Given the description of an element on the screen output the (x, y) to click on. 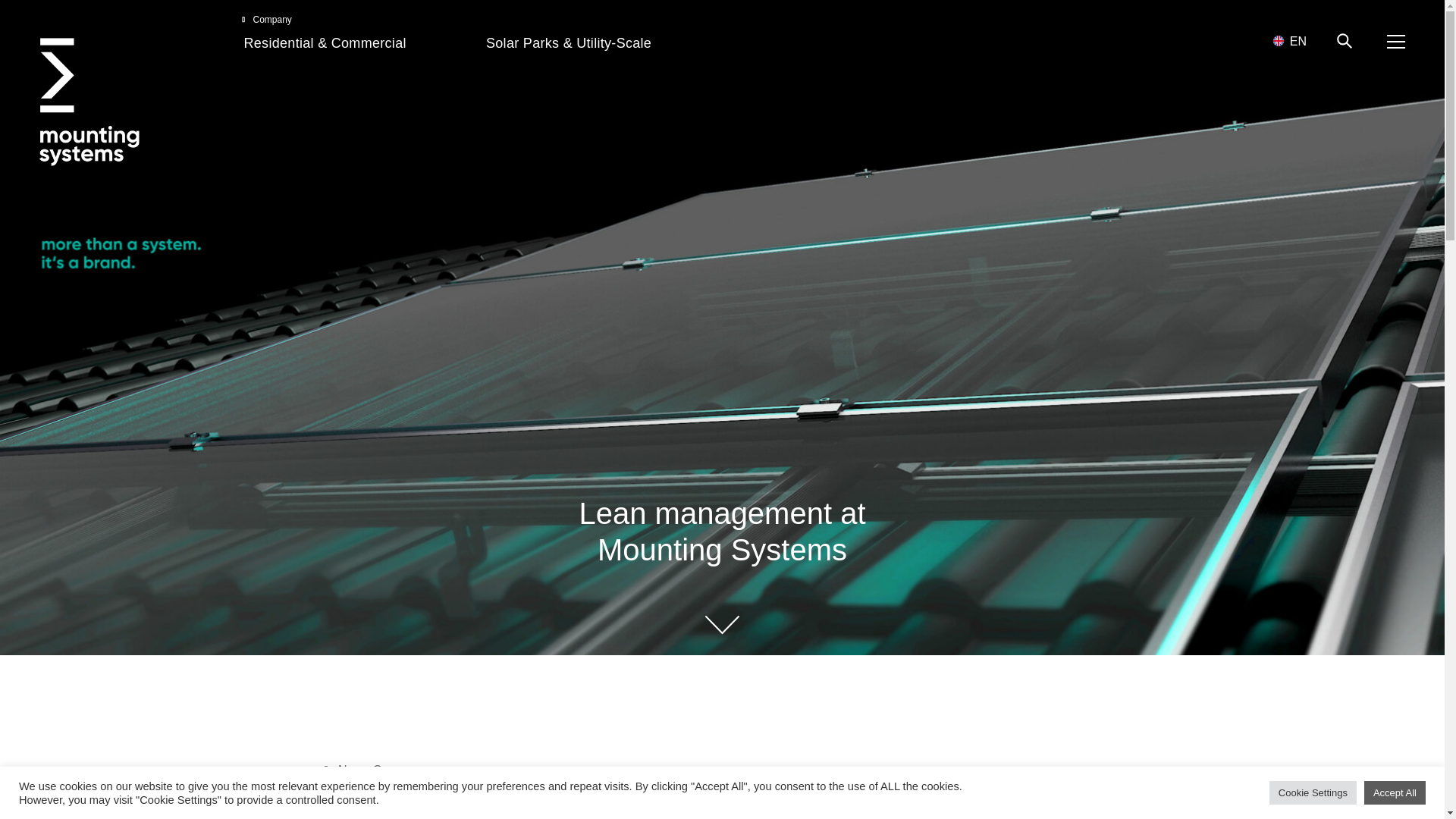
Company (267, 19)
